Given the description of an element on the screen output the (x, y) to click on. 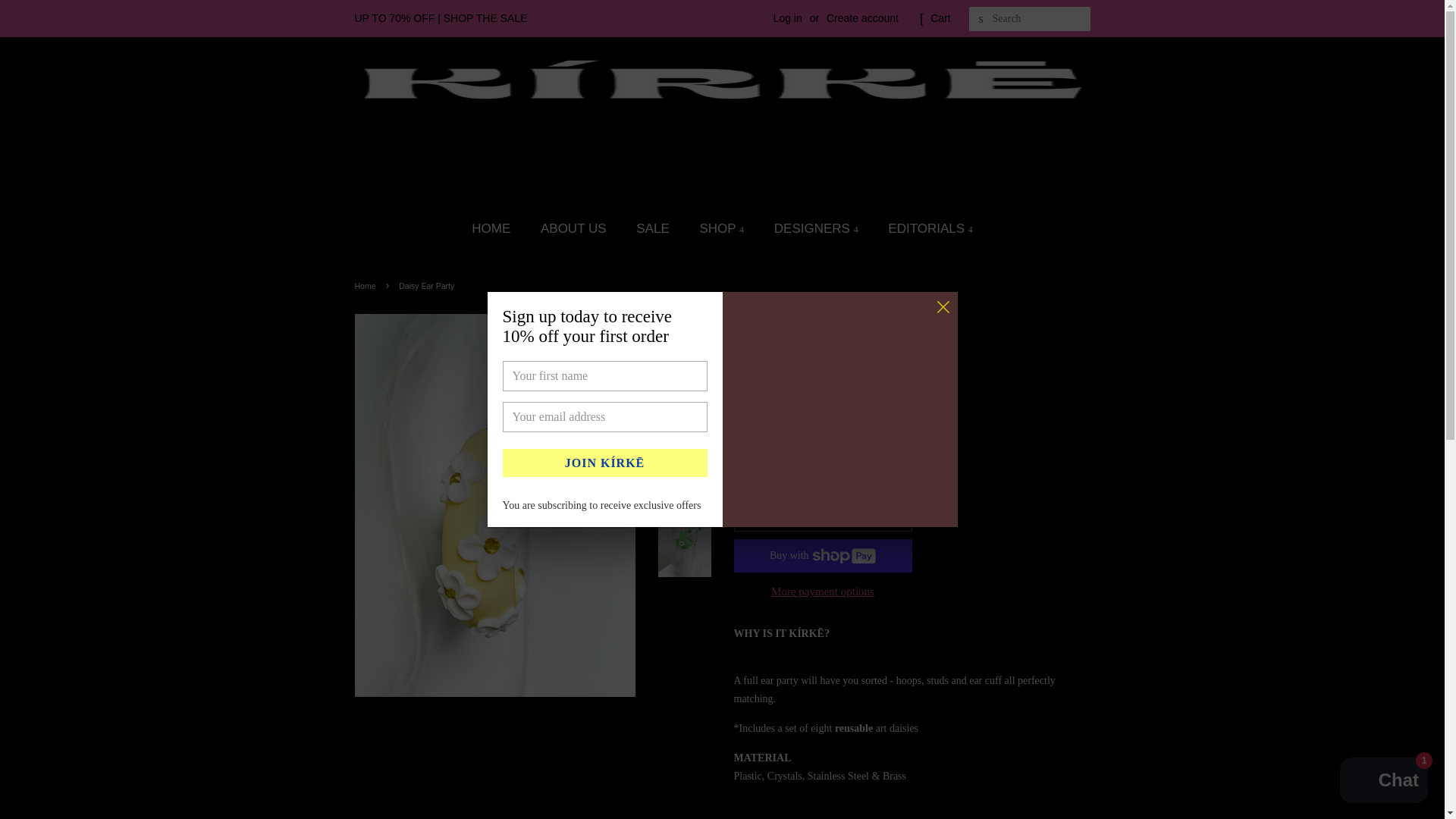
Back to the frontpage (367, 285)
Shopify online store chat (1383, 781)
SEARCH (980, 18)
Cart (940, 18)
Create account (862, 18)
Log in (787, 18)
